Given the description of an element on the screen output the (x, y) to click on. 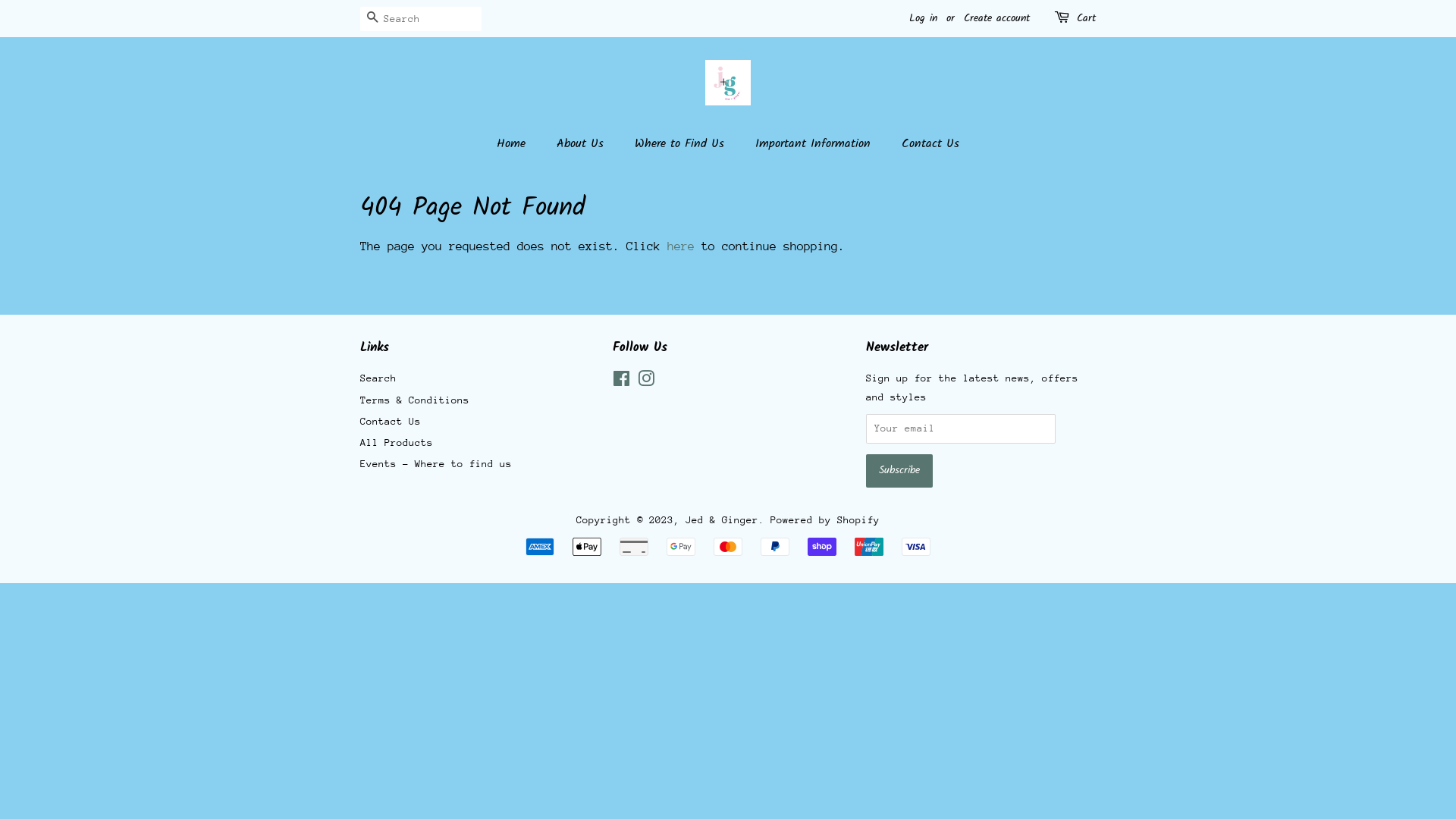
Search Element type: text (378, 377)
About Us Element type: text (581, 143)
Contact Us Element type: text (924, 143)
Home Element type: text (518, 143)
Powered by Shopify Element type: text (824, 519)
Events - Where to find us Element type: text (435, 463)
here Element type: text (680, 246)
Create account Element type: text (996, 17)
Contact Us Element type: text (390, 420)
Terms & Conditions Element type: text (414, 399)
Jed & Ginger Element type: text (721, 519)
Subscribe Element type: text (899, 470)
All Products Element type: text (396, 442)
Important Information Element type: text (814, 143)
Log in Element type: text (923, 17)
Cart Element type: text (1085, 18)
Facebook Element type: text (621, 381)
Instagram Element type: text (645, 381)
Search Element type: text (372, 18)
Where to Find Us Element type: text (681, 143)
